Given the description of an element on the screen output the (x, y) to click on. 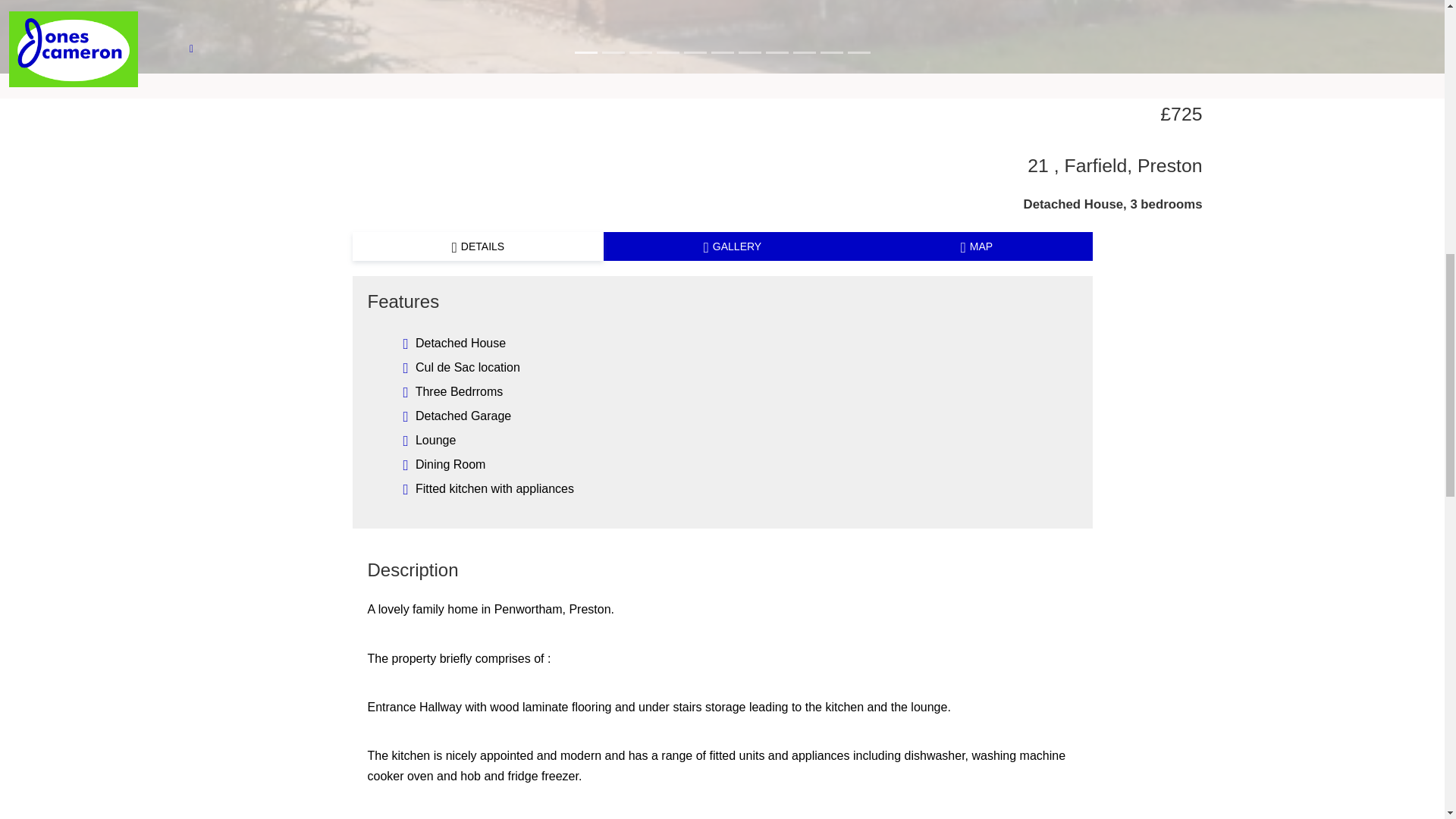
GALLERY (732, 246)
MAP (976, 246)
DETAILS (478, 246)
Previous (108, 36)
